Given the description of an element on the screen output the (x, y) to click on. 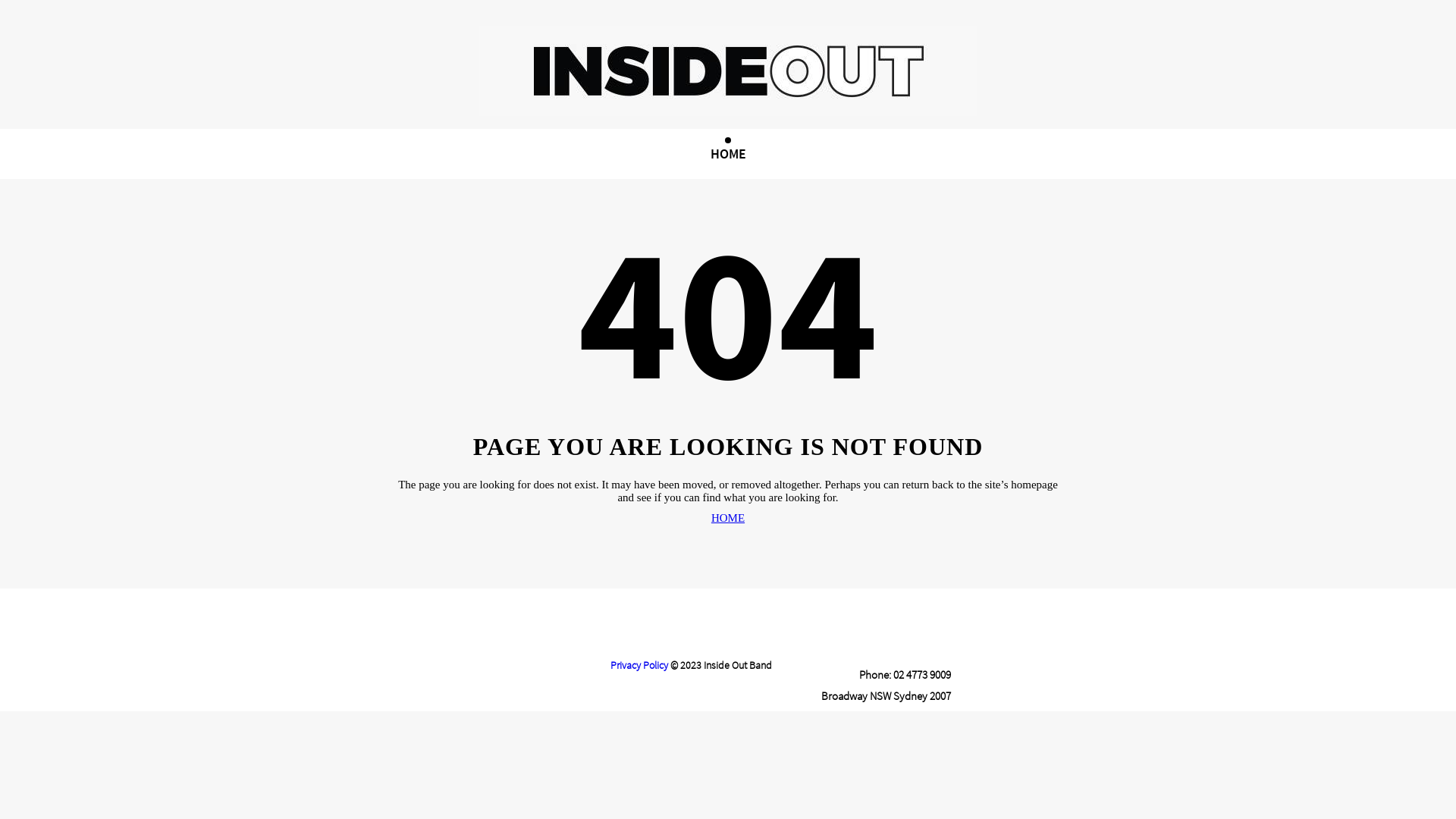
HOME Element type: text (727, 153)
Privacy Policy Element type: text (639, 664)
HOME Element type: text (727, 517)
